Given the description of an element on the screen output the (x, y) to click on. 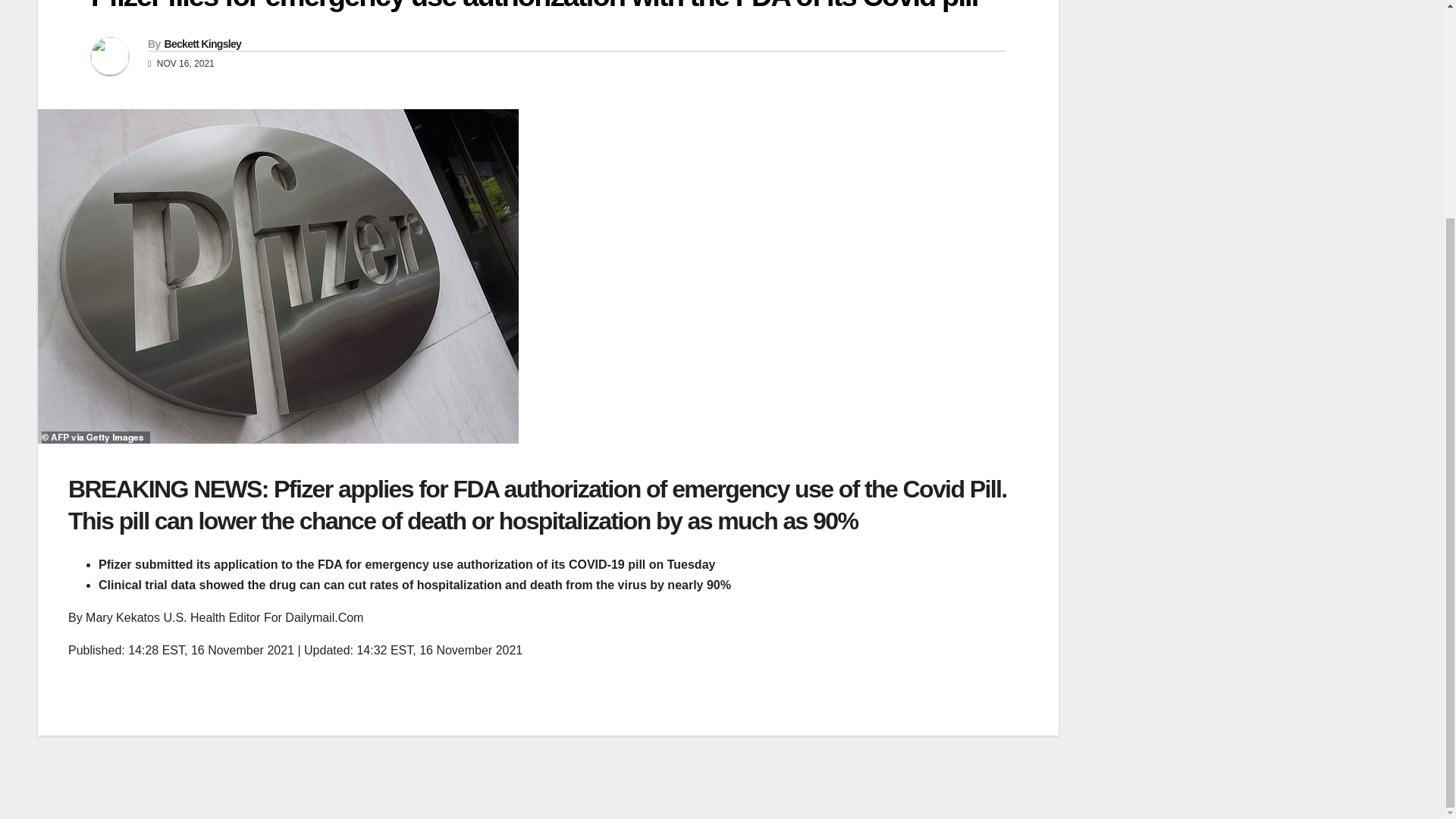
Beckett Kingsley (202, 43)
